Given the description of an element on the screen output the (x, y) to click on. 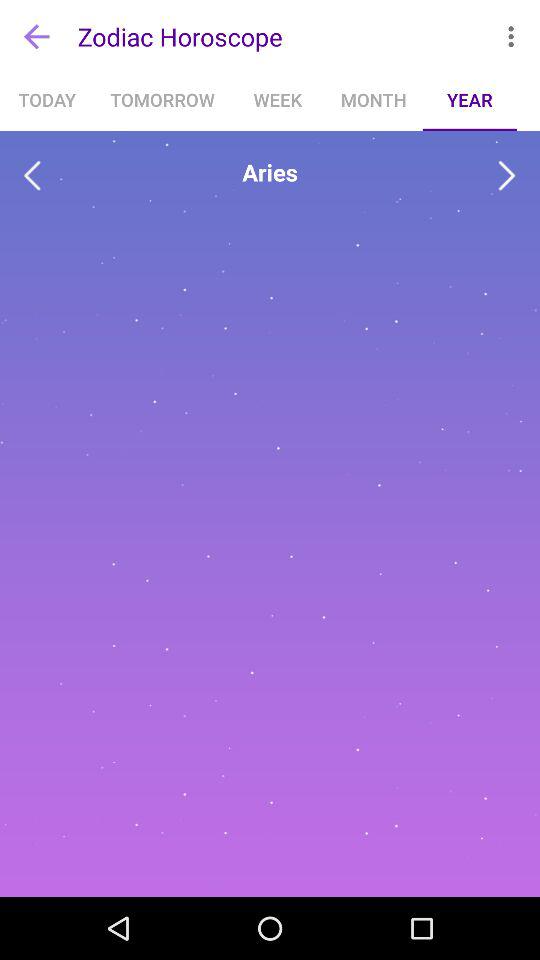
go to next (506, 175)
